Given the description of an element on the screen output the (x, y) to click on. 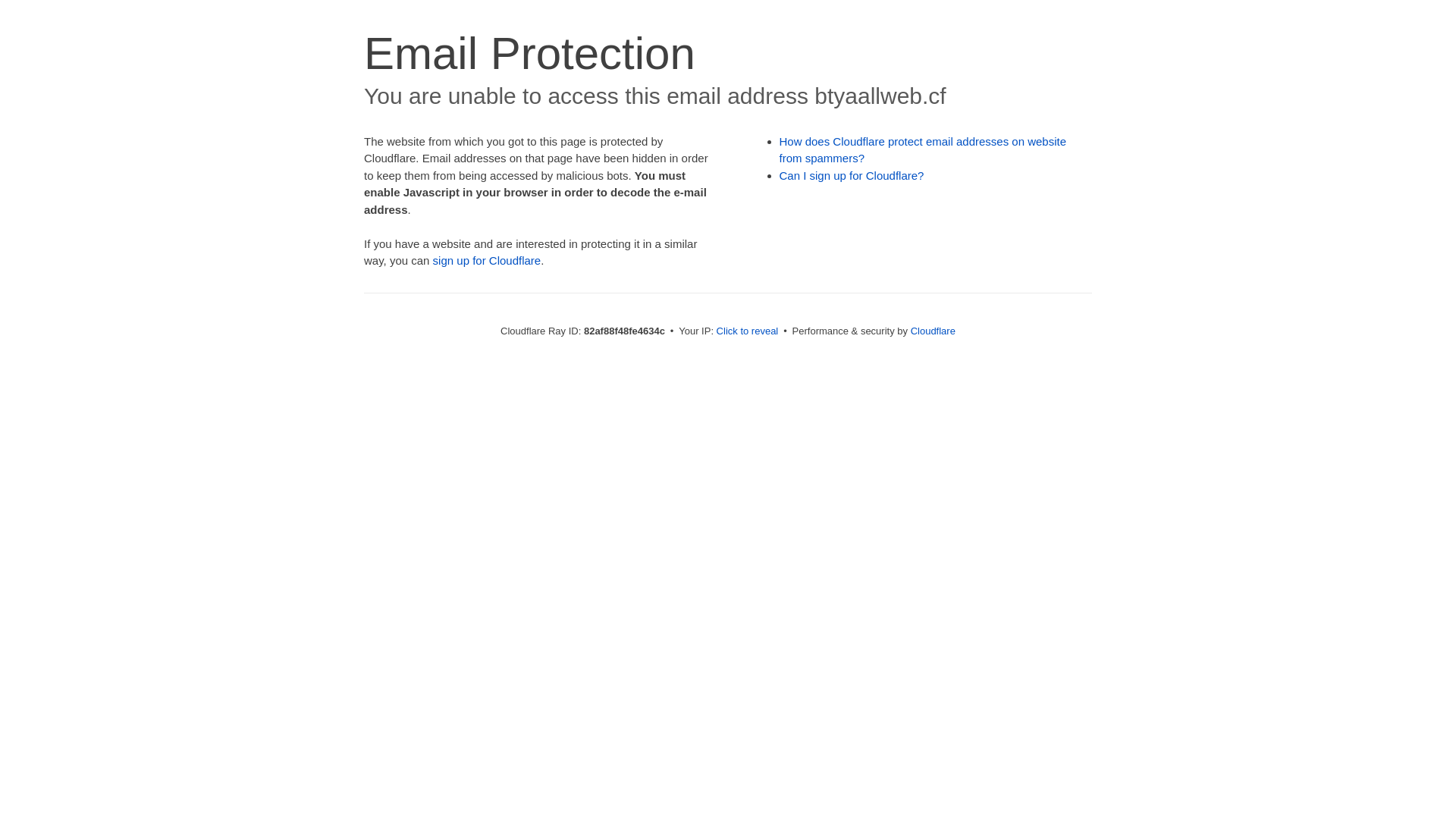
sign up for Cloudflare Element type: text (487, 260)
Click to reveal Element type: text (747, 330)
Cloudflare Element type: text (932, 330)
Can I sign up for Cloudflare? Element type: text (851, 175)
